Given the description of an element on the screen output the (x, y) to click on. 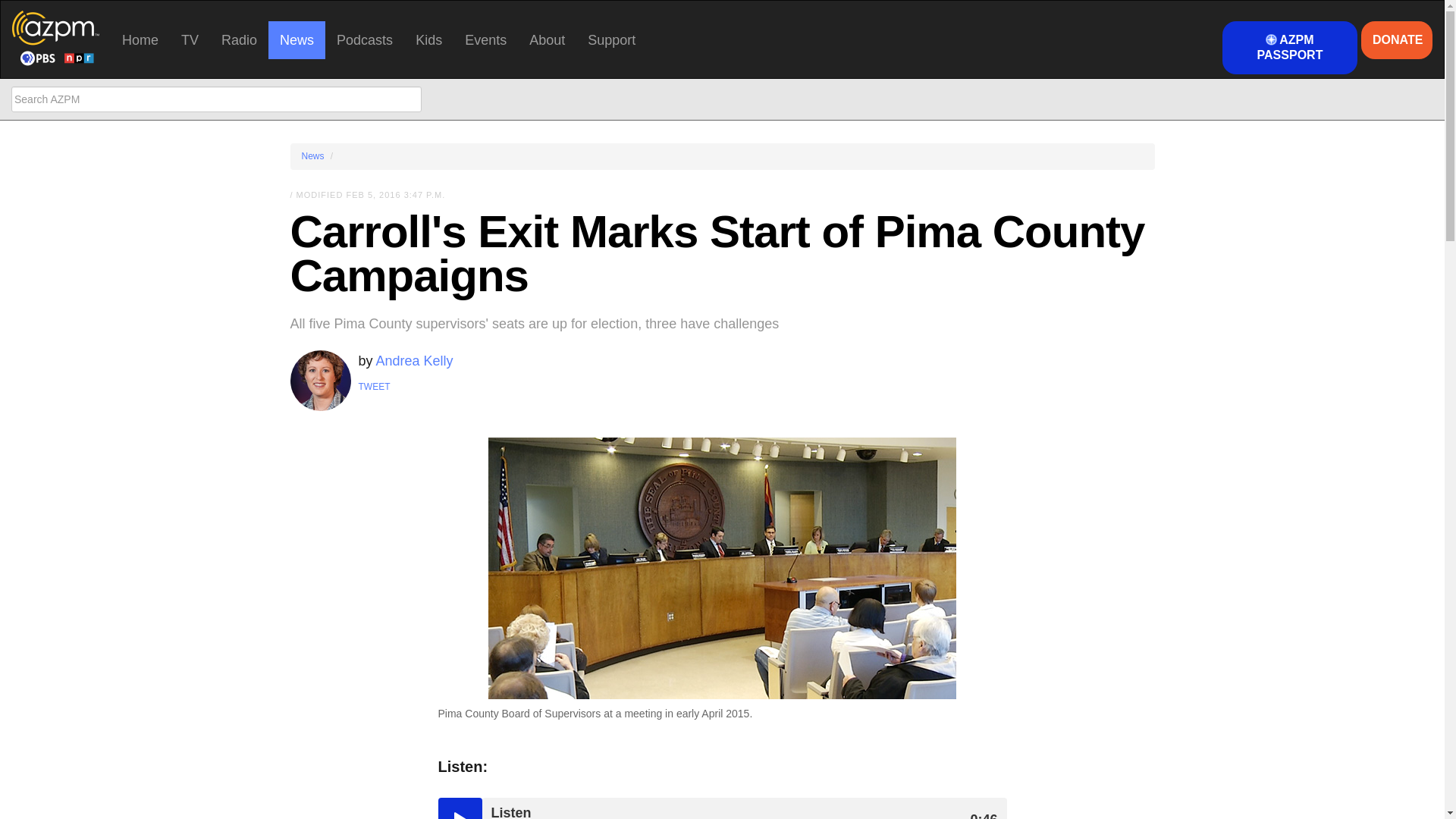
About (547, 39)
News (295, 39)
Radio (238, 39)
Kids (428, 39)
TV (189, 39)
Home (140, 39)
Events (485, 39)
Podcasts (364, 39)
